Given the description of an element on the screen output the (x, y) to click on. 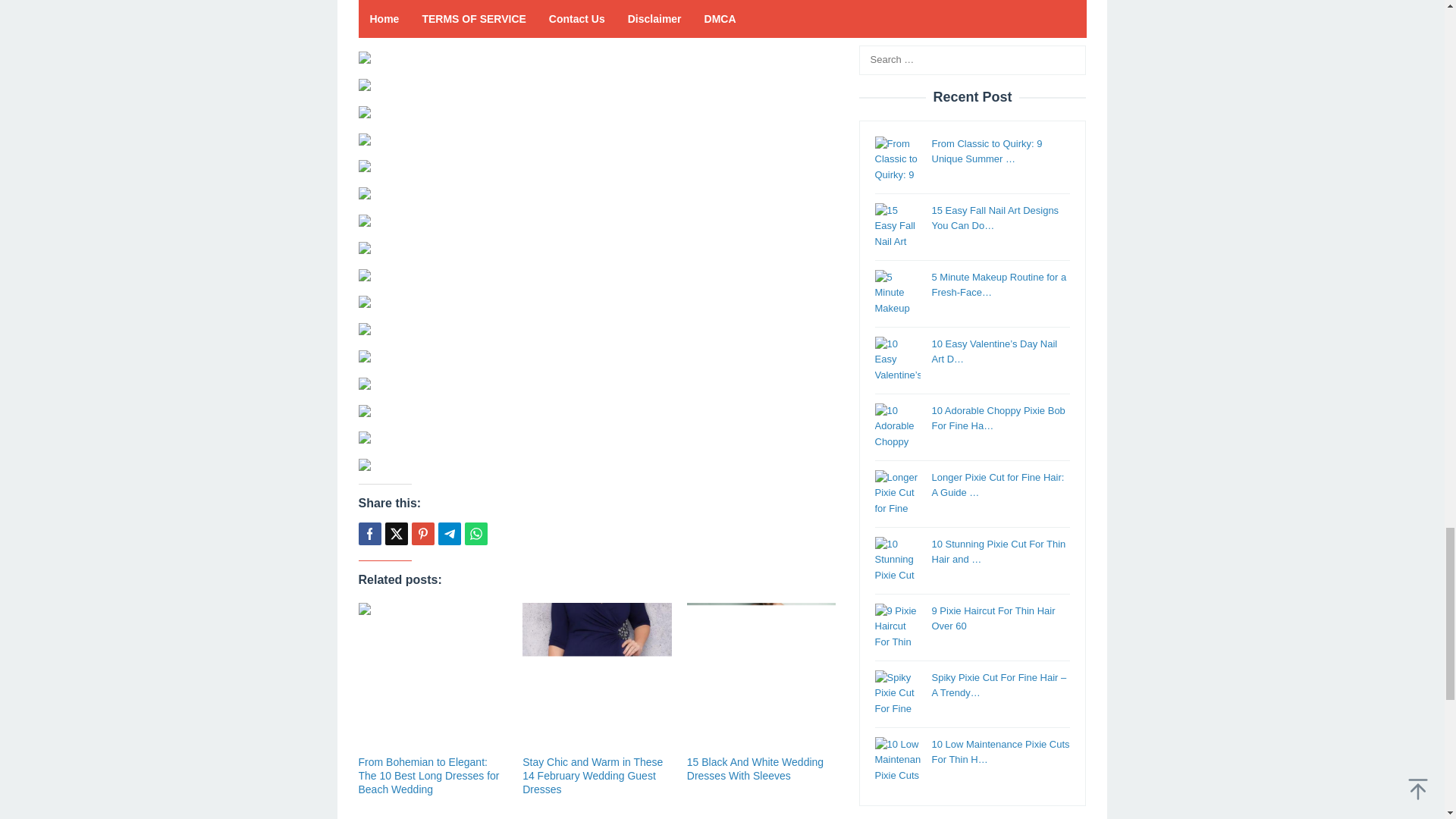
Tweet this (396, 533)
Pin this (421, 533)
Telegram Share (449, 533)
Share this (369, 533)
Whatsapp (475, 533)
